Given the description of an element on the screen output the (x, y) to click on. 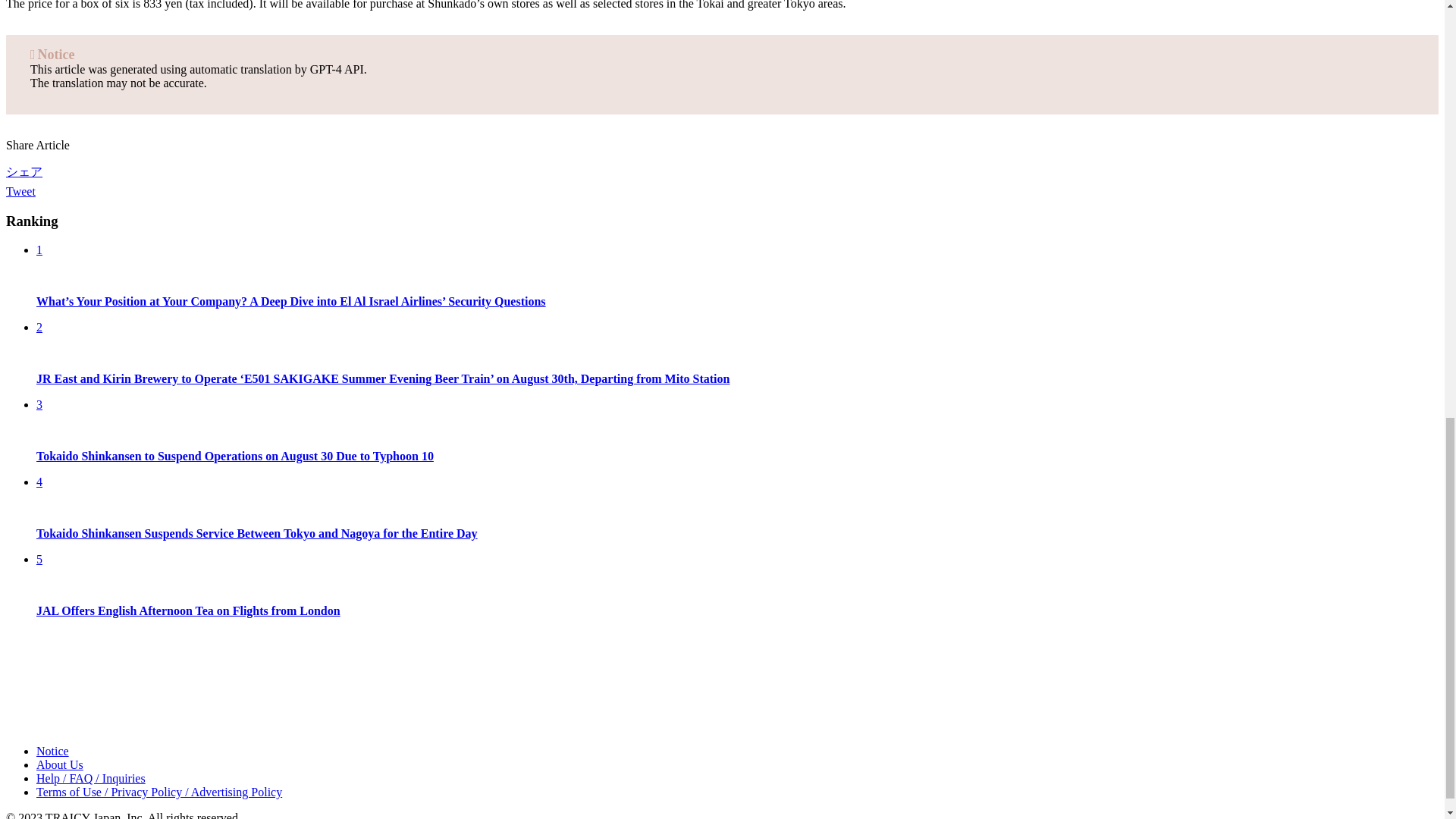
Tweet (19, 191)
